Given the description of an element on the screen output the (x, y) to click on. 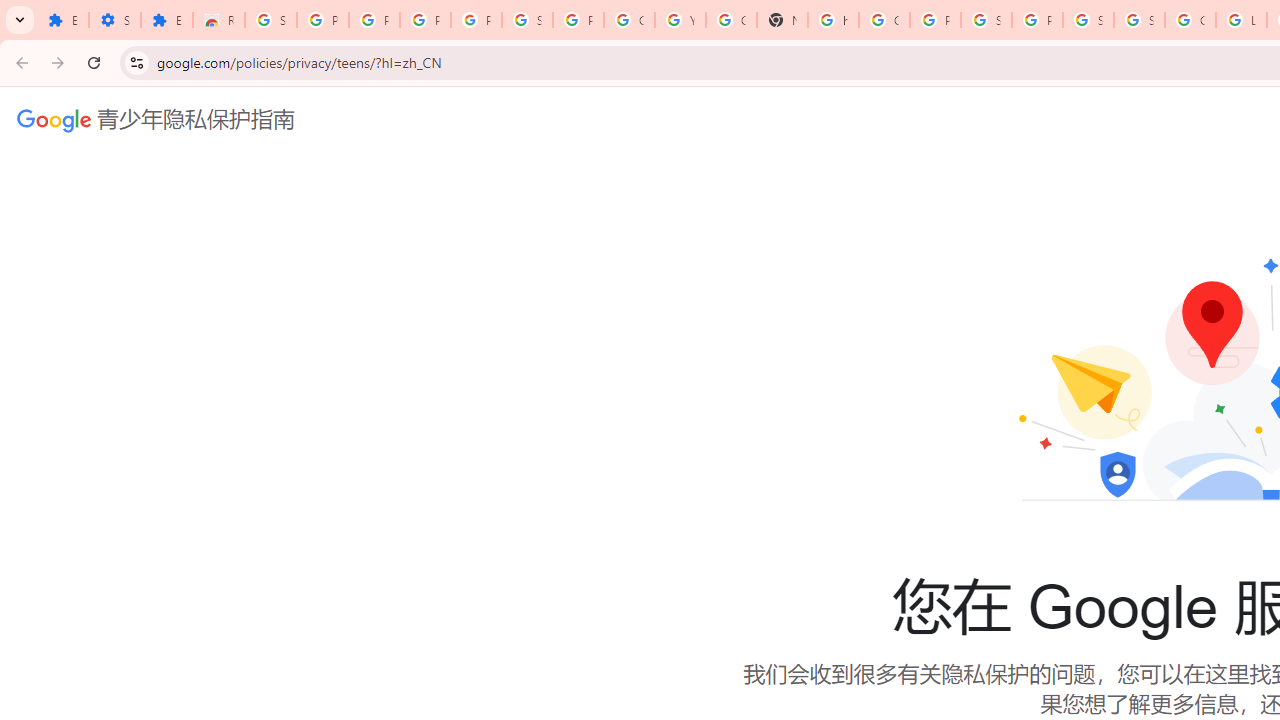
Extensions (63, 20)
Extensions (166, 20)
New Tab (781, 20)
Sign in - Google Accounts (526, 20)
